Given the description of an element on the screen output the (x, y) to click on. 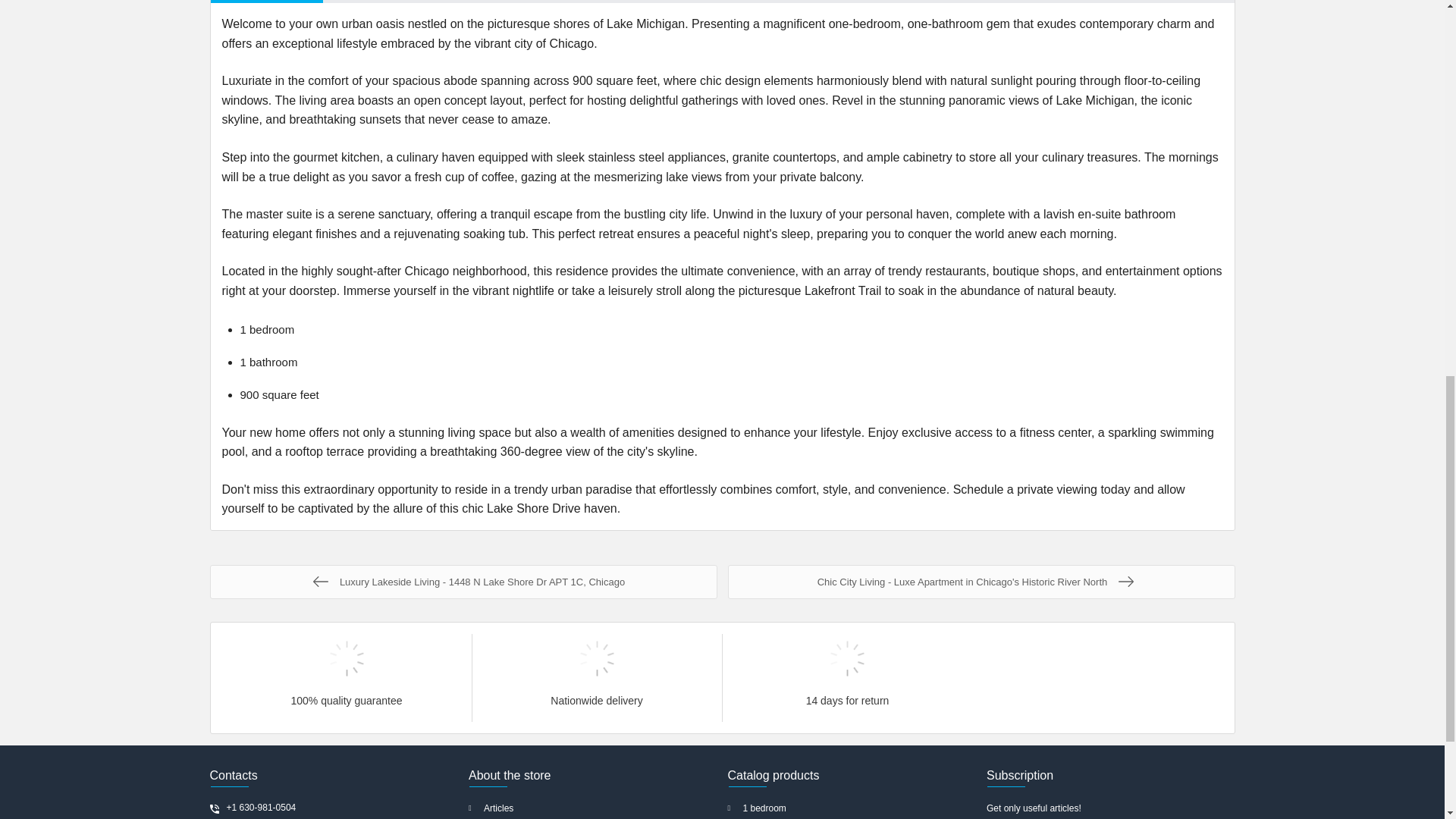
1 bedroom (852, 808)
Nationwide delivery (596, 658)
Articles (592, 808)
14 days for return (847, 658)
